Given the description of an element on the screen output the (x, y) to click on. 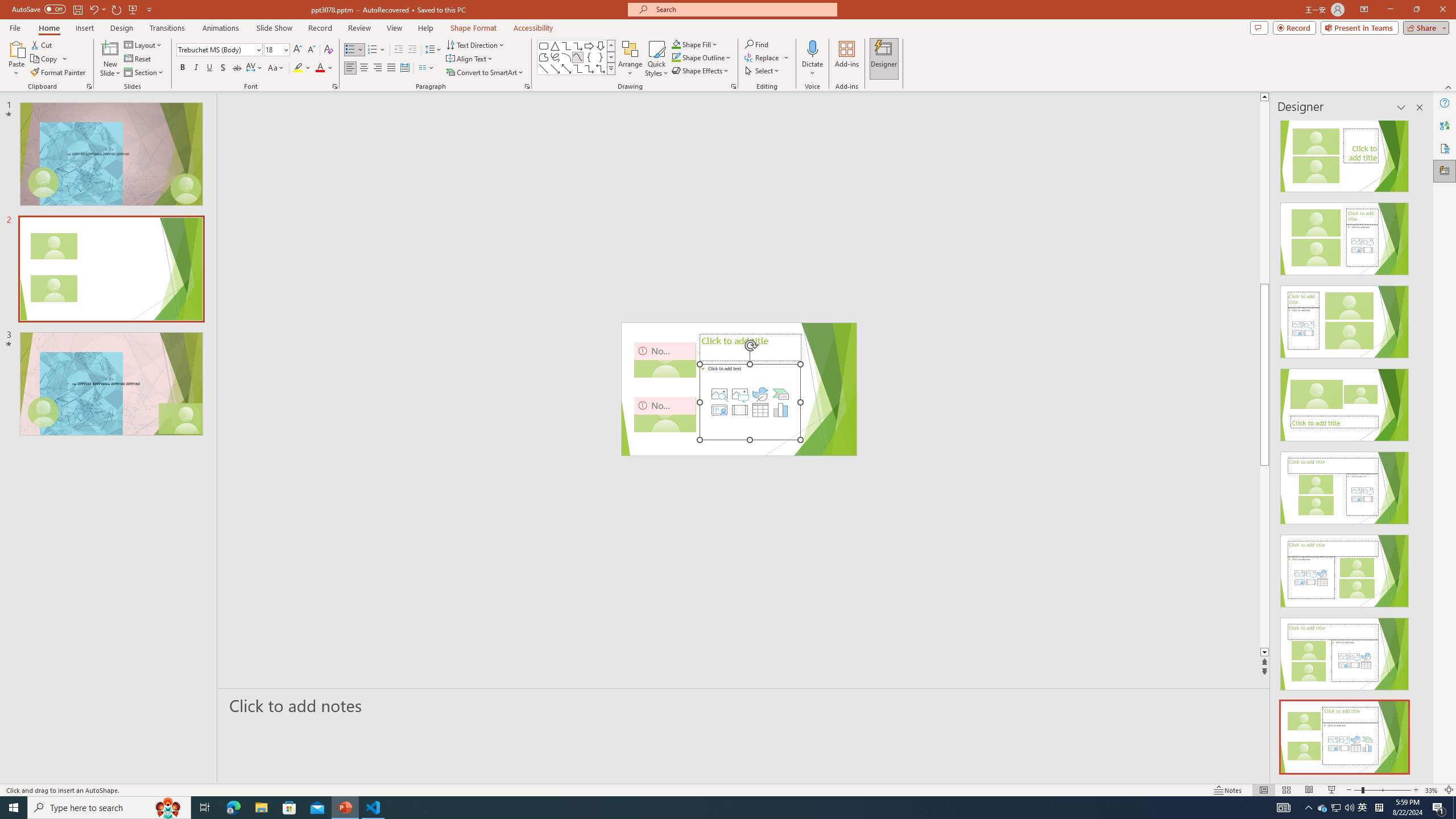
Recommended Design: Design Idea (1344, 152)
Camera 5, No camera detected. (665, 413)
